Given the description of an element on the screen output the (x, y) to click on. 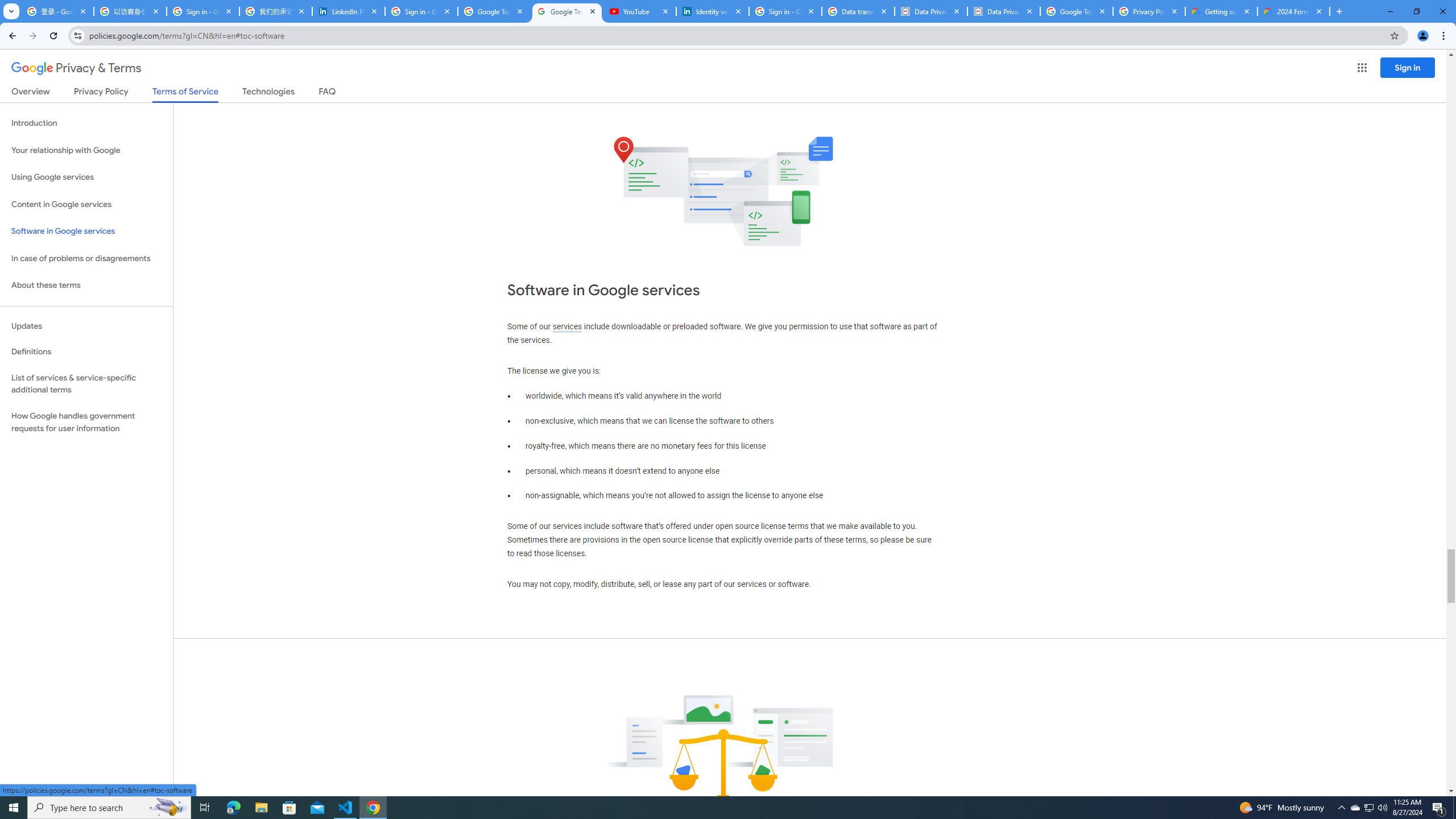
About these terms (86, 284)
Using Google services (86, 176)
